Given the description of an element on the screen output the (x, y) to click on. 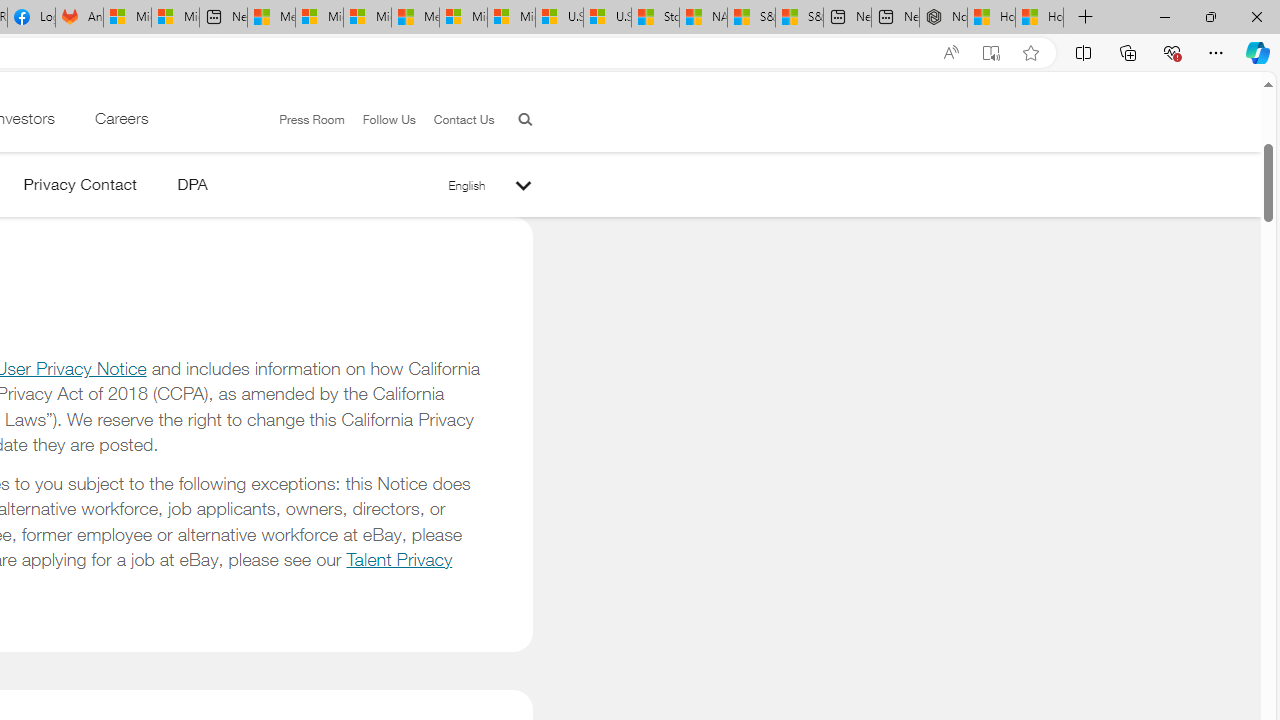
Microsoft account | Home (367, 17)
S&P 500, Nasdaq end lower, weighed by Nvidia dip | Watch (799, 17)
How to Use a Monitor With Your Closed Laptop (1039, 17)
